Given the description of an element on the screen output the (x, y) to click on. 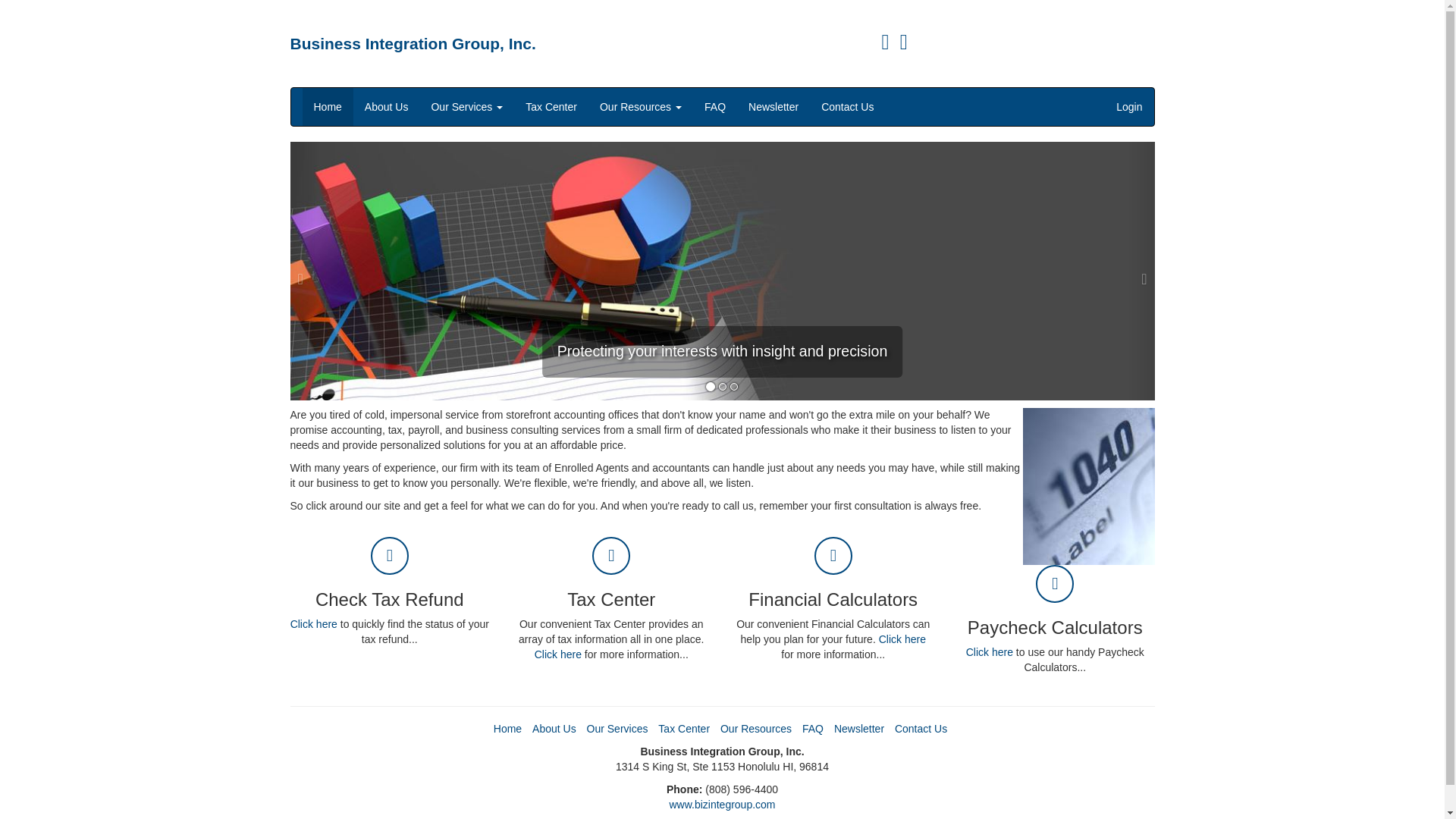
Business Integration Group, Inc. (412, 43)
Newsletter (772, 106)
Our Resources (640, 106)
Click here (313, 623)
Our Services (466, 106)
Contact Us (921, 728)
www.bizintegroup.com (721, 804)
Home page (412, 43)
Home (507, 728)
Home (326, 106)
